Given the description of an element on the screen output the (x, y) to click on. 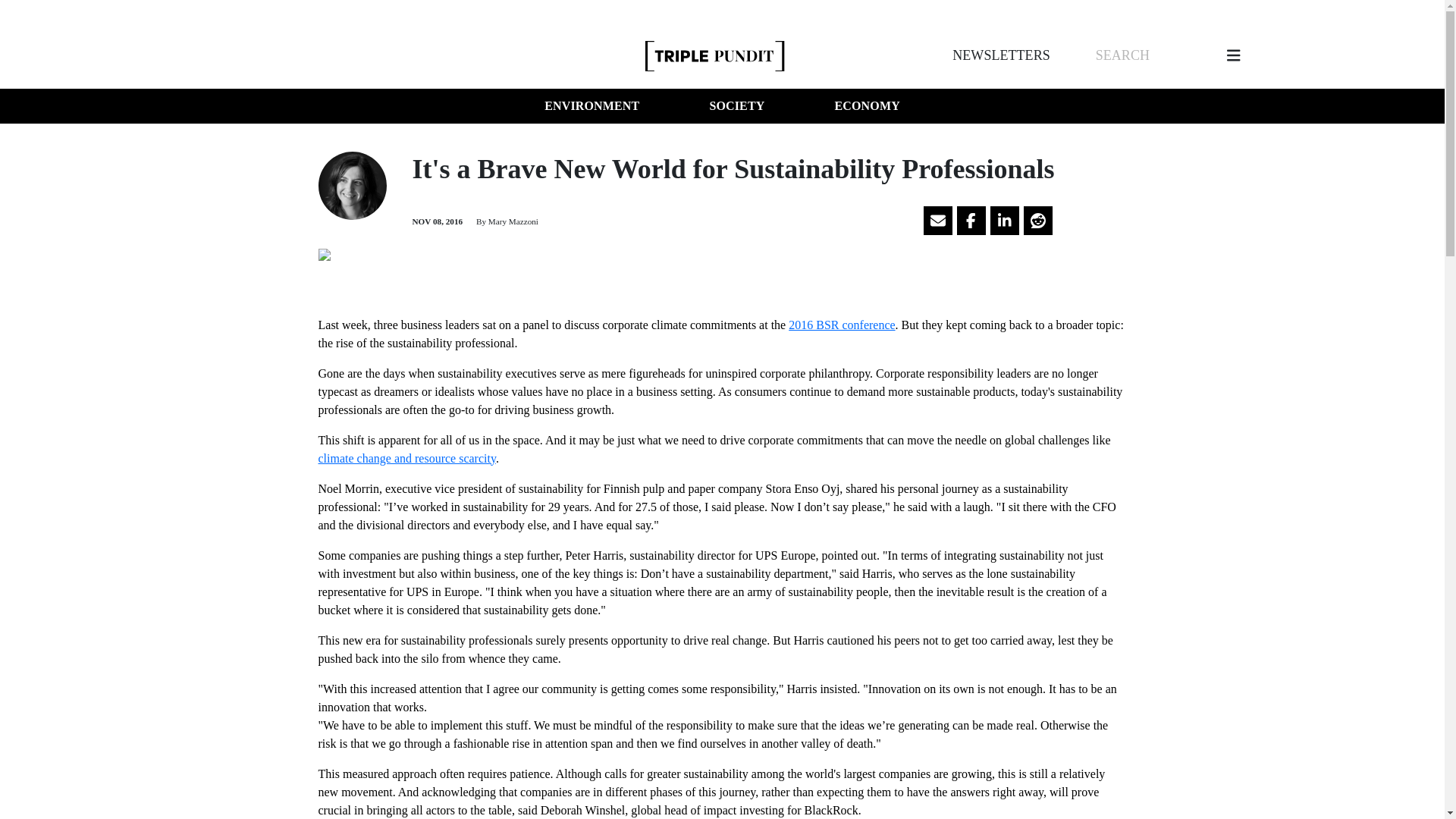
SOCIETY (736, 105)
ENVIRONMENT (591, 105)
climate change and resource scarcity (407, 458)
SEARCH (1122, 55)
By Mary Mazzoni (506, 221)
ECONOMY (866, 105)
2016 BSR conference (842, 324)
